Given the description of an element on the screen output the (x, y) to click on. 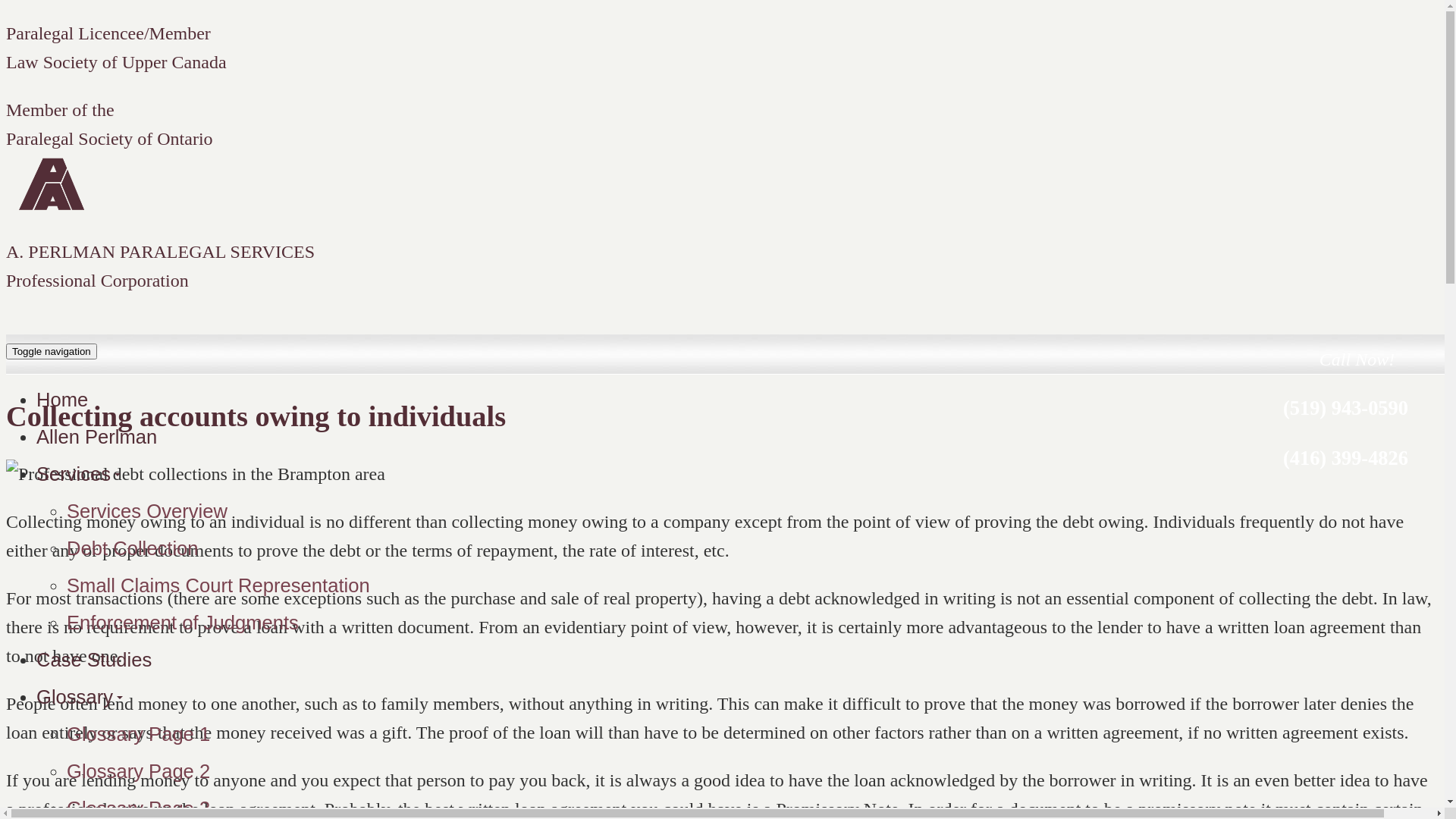
Services Element type: text (78, 473)
Home Element type: text (61, 399)
(416) 399-4826 Element type: text (1345, 457)
Services Overview Element type: text (146, 510)
Case Studies Element type: text (93, 659)
Enforcement of Judgments Element type: text (182, 622)
Debt Collection Element type: text (132, 547)
Allen Perlman Element type: text (96, 436)
Glossary Page 1 Element type: text (138, 733)
Small Claims Court Representation Element type: text (218, 585)
(519) 943-0590 Element type: text (1345, 407)
Glossary Page 2 Element type: text (138, 770)
Toggle navigation Element type: text (51, 351)
Glossary Element type: text (79, 696)
